Given the description of an element on the screen output the (x, y) to click on. 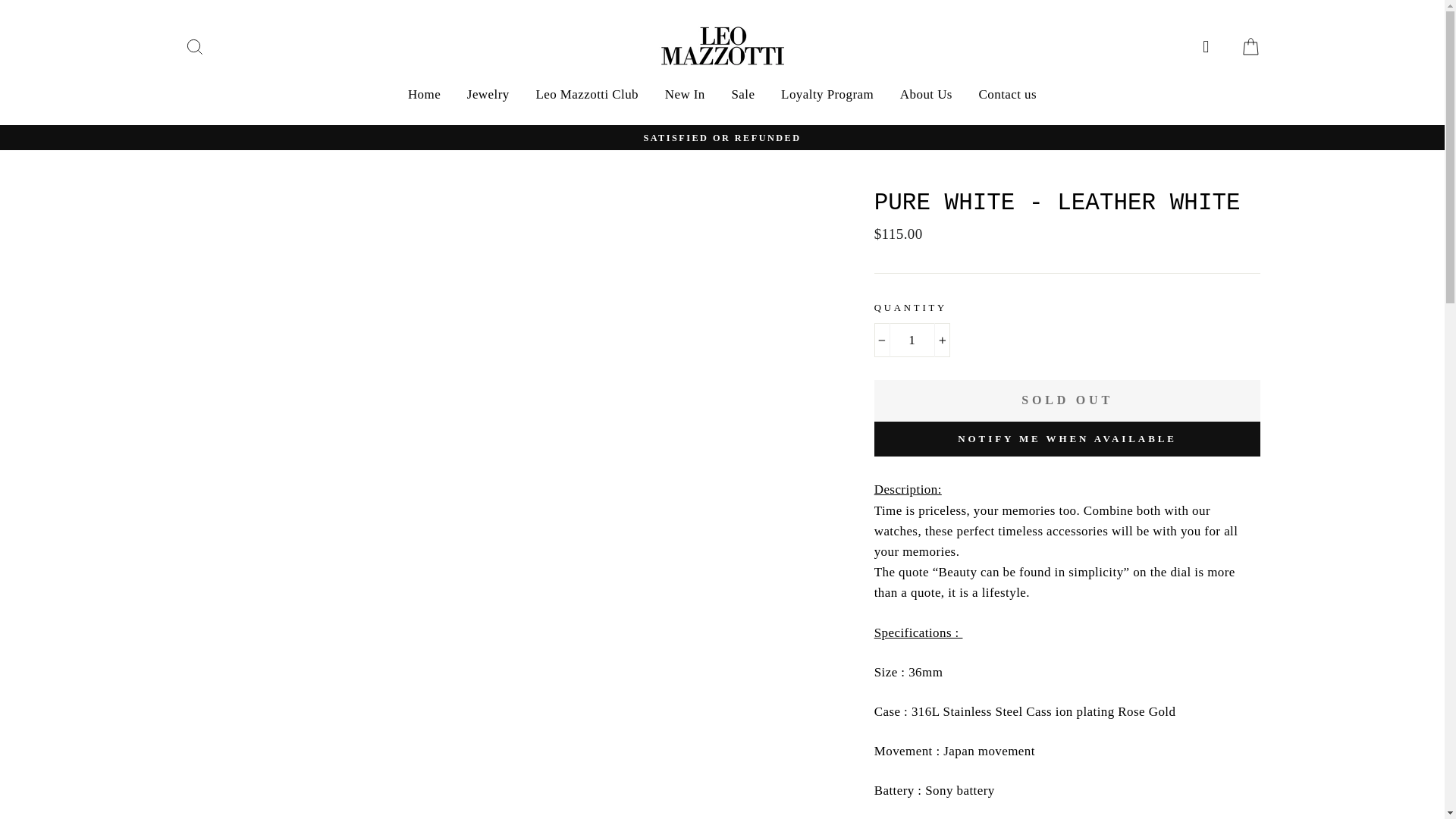
Search (194, 46)
1 (912, 339)
Contact us (1008, 93)
Cart (1249, 46)
Jewelry (488, 93)
New In (684, 93)
Home (423, 93)
Loyalty Program (827, 93)
Leo Mazzotti Club (586, 93)
About Us (925, 93)
Sale (742, 93)
